Given the description of an element on the screen output the (x, y) to click on. 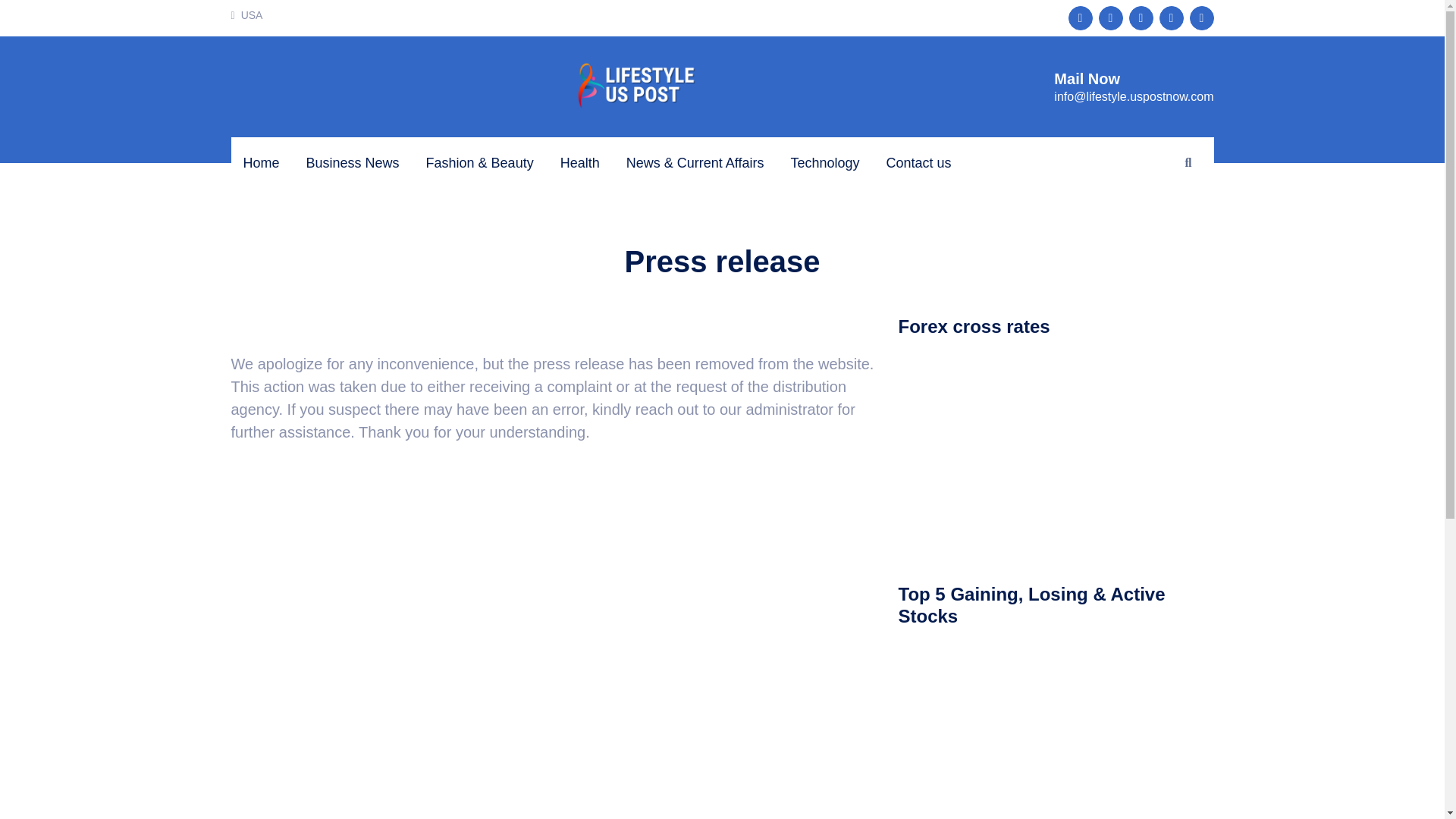
Technology (824, 163)
Business News (351, 163)
Contact us (917, 163)
Health (579, 163)
Home (261, 163)
